Given the description of an element on the screen output the (x, y) to click on. 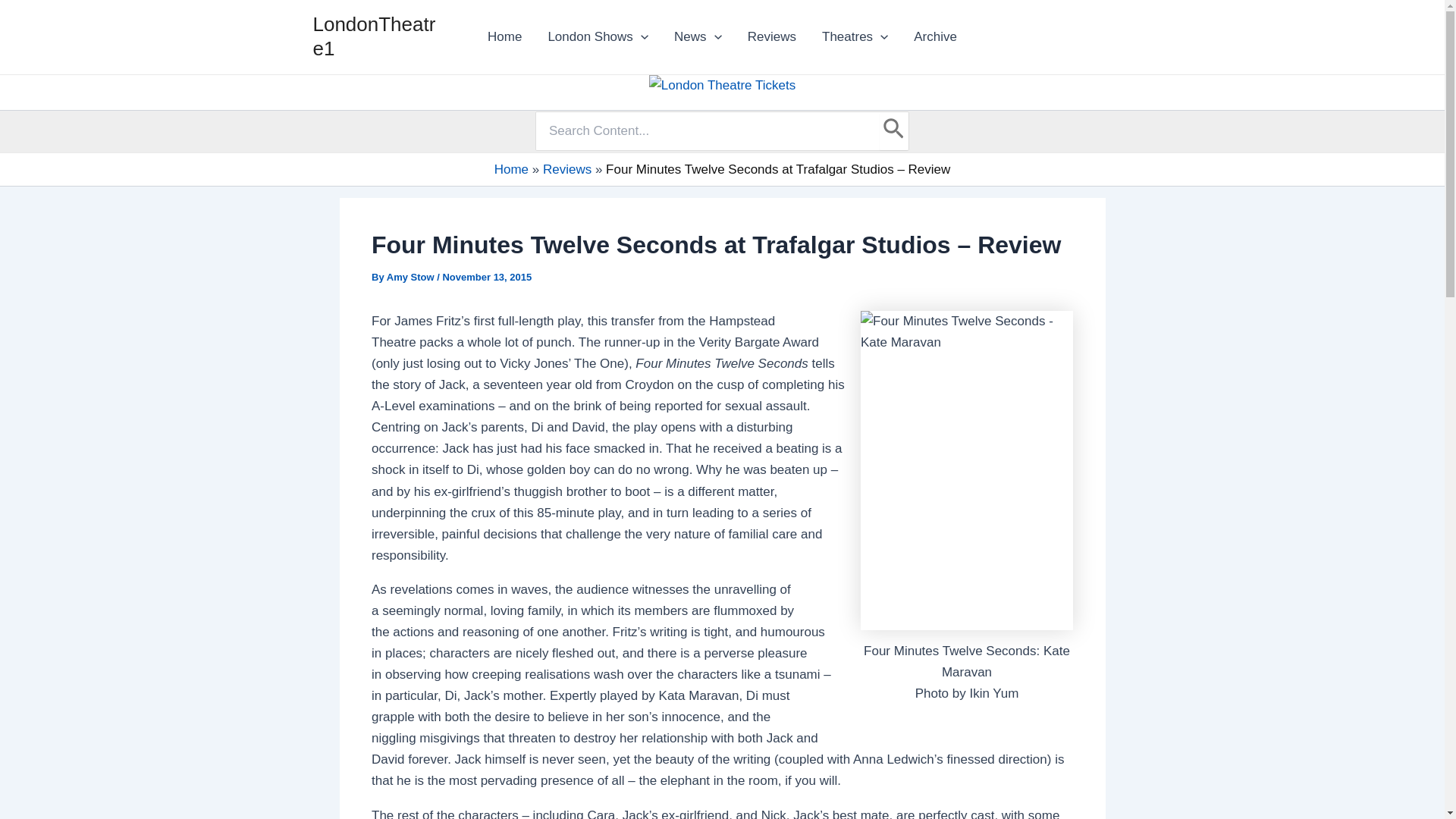
Theatre News (698, 37)
Reviews (772, 37)
UK Shows (855, 37)
London Shows (597, 37)
LondonTheatre1 (374, 36)
Home (504, 37)
News (698, 37)
View all posts by Amy Stow (411, 276)
Theatres (855, 37)
Archive (935, 37)
